Given the description of an element on the screen output the (x, y) to click on. 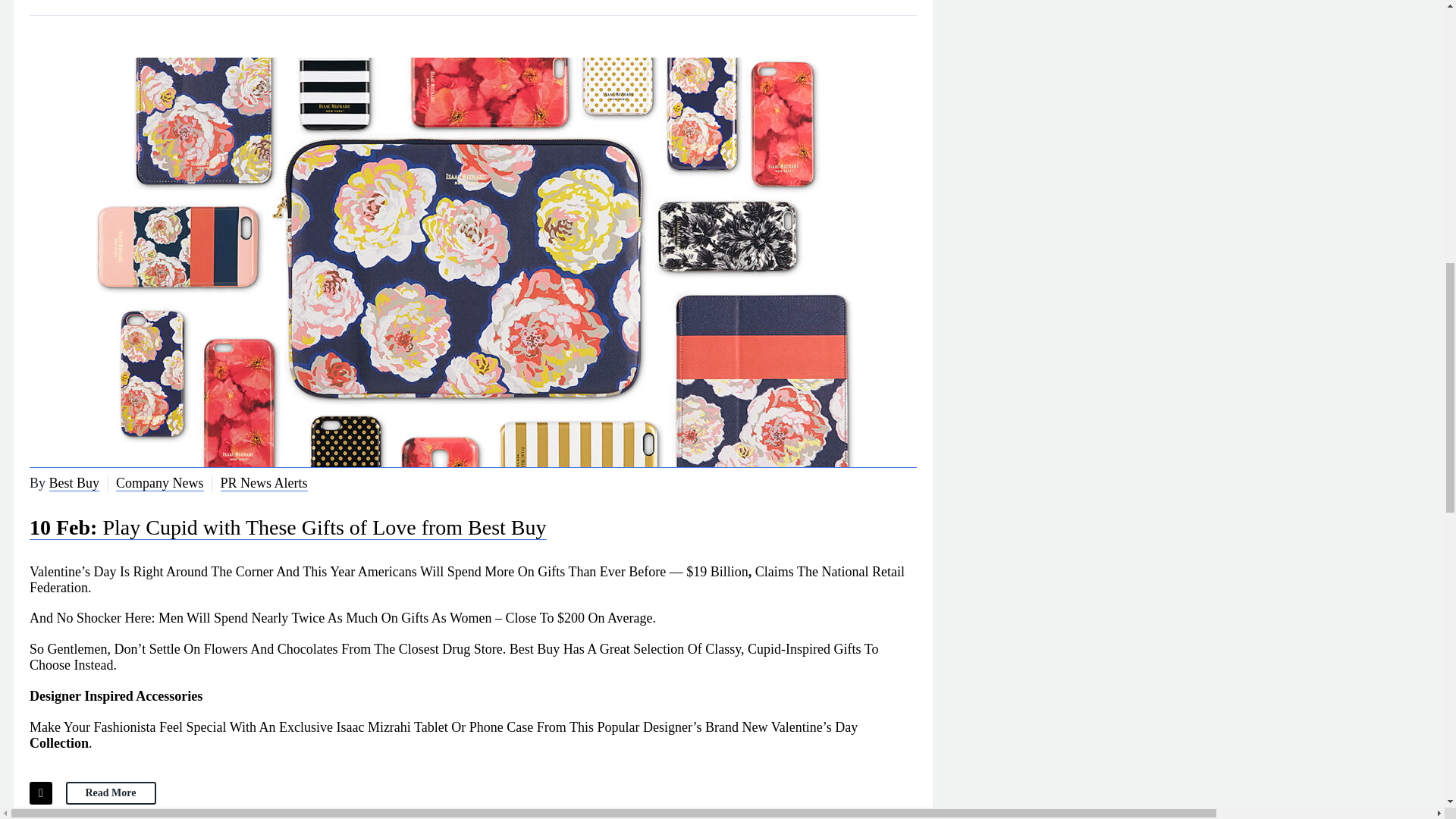
View all posts in Company News (159, 483)
View all posts in PR News Alerts (264, 483)
